Given the description of an element on the screen output the (x, y) to click on. 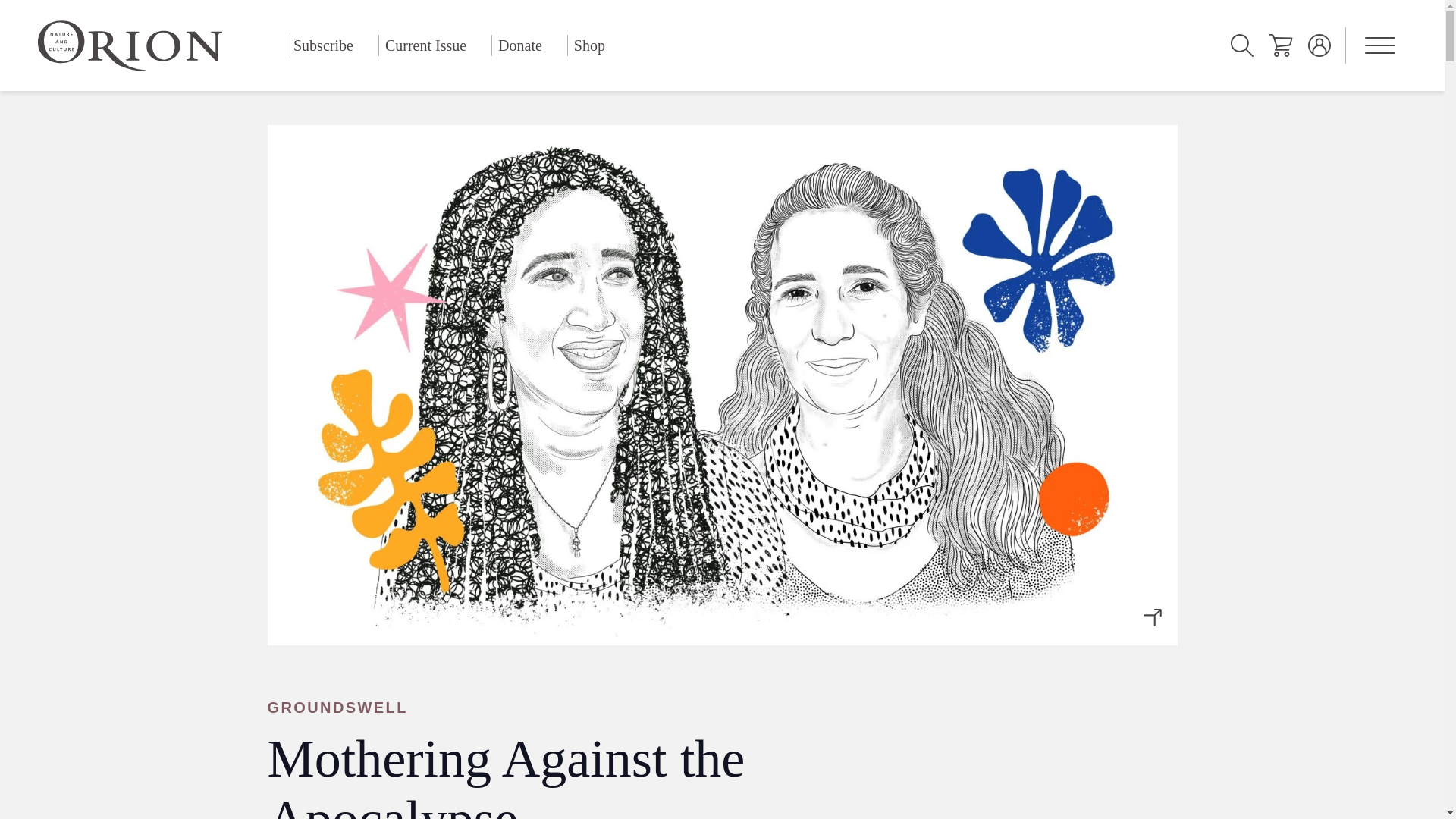
GROUNDSWELL (623, 707)
Search (1242, 45)
Account Dashboard (1319, 45)
Current Issue (424, 45)
Cart (1280, 45)
Shop (589, 45)
Subscribe (322, 45)
Donate (520, 45)
EXPAND IMAGE CAPTION (1153, 614)
